Given the description of an element on the screen output the (x, y) to click on. 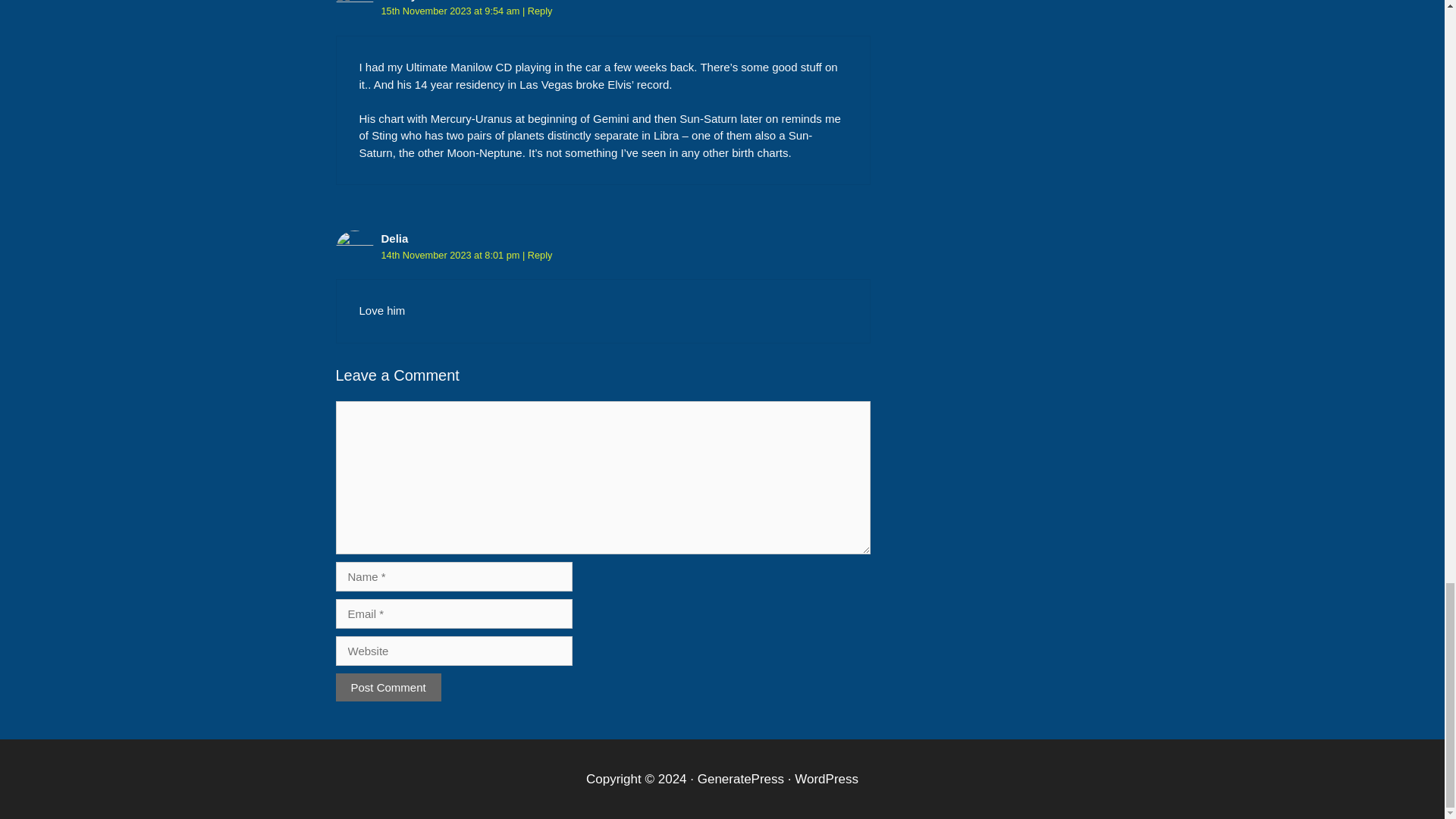
Post Comment (387, 687)
14th November 2023 at 8:01 pm (450, 255)
GeneratePress (740, 779)
Proudly powered by WordPress (826, 779)
Reply (540, 10)
15th November 2023 at 9:54 am (450, 10)
